Given the description of an element on the screen output the (x, y) to click on. 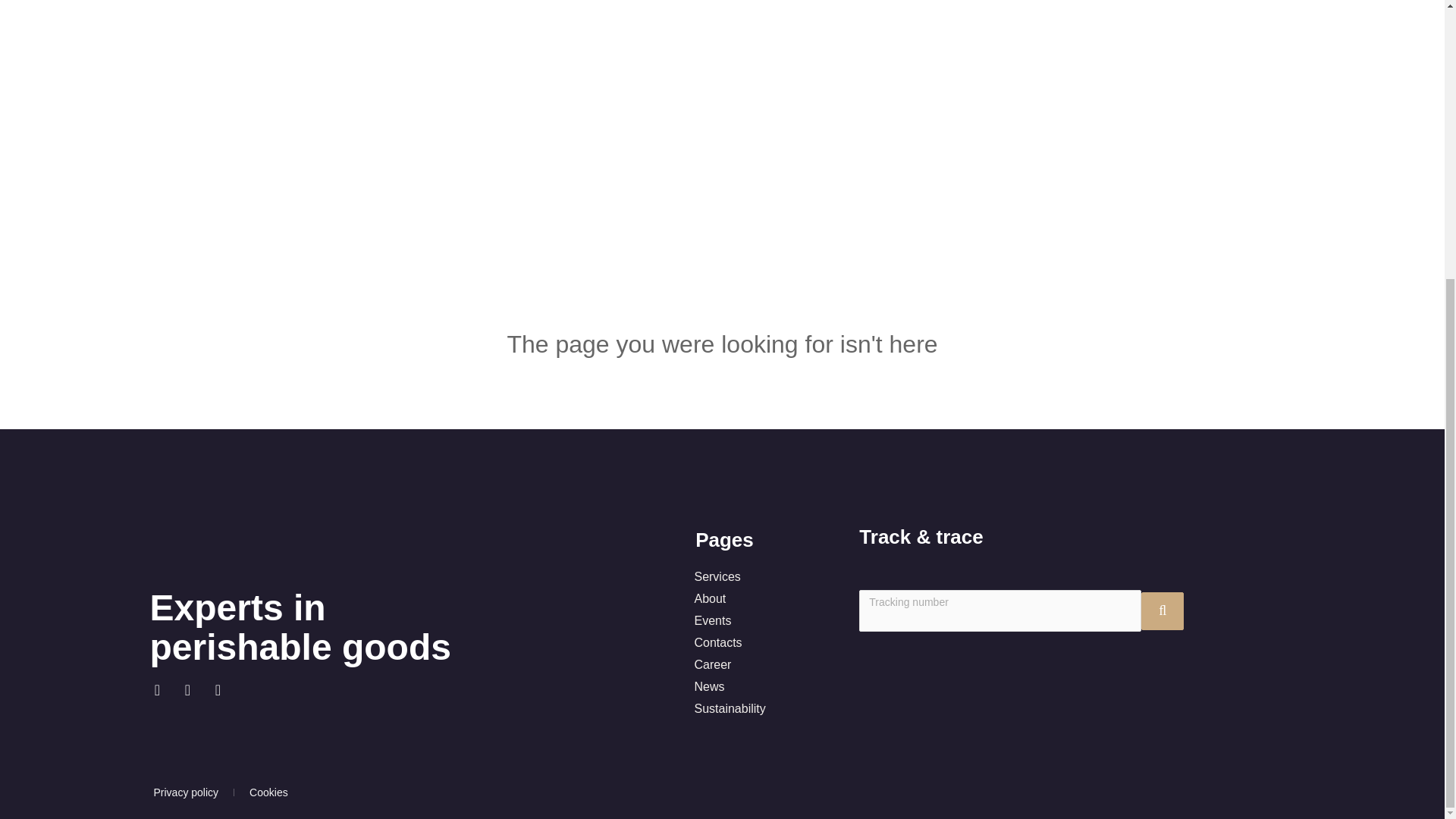
Vimeo (226, 697)
Linkedin (195, 697)
Services (753, 577)
About (753, 598)
Cookies (269, 792)
Privacy policy (185, 792)
Facebook (164, 697)
